Given the description of an element on the screen output the (x, y) to click on. 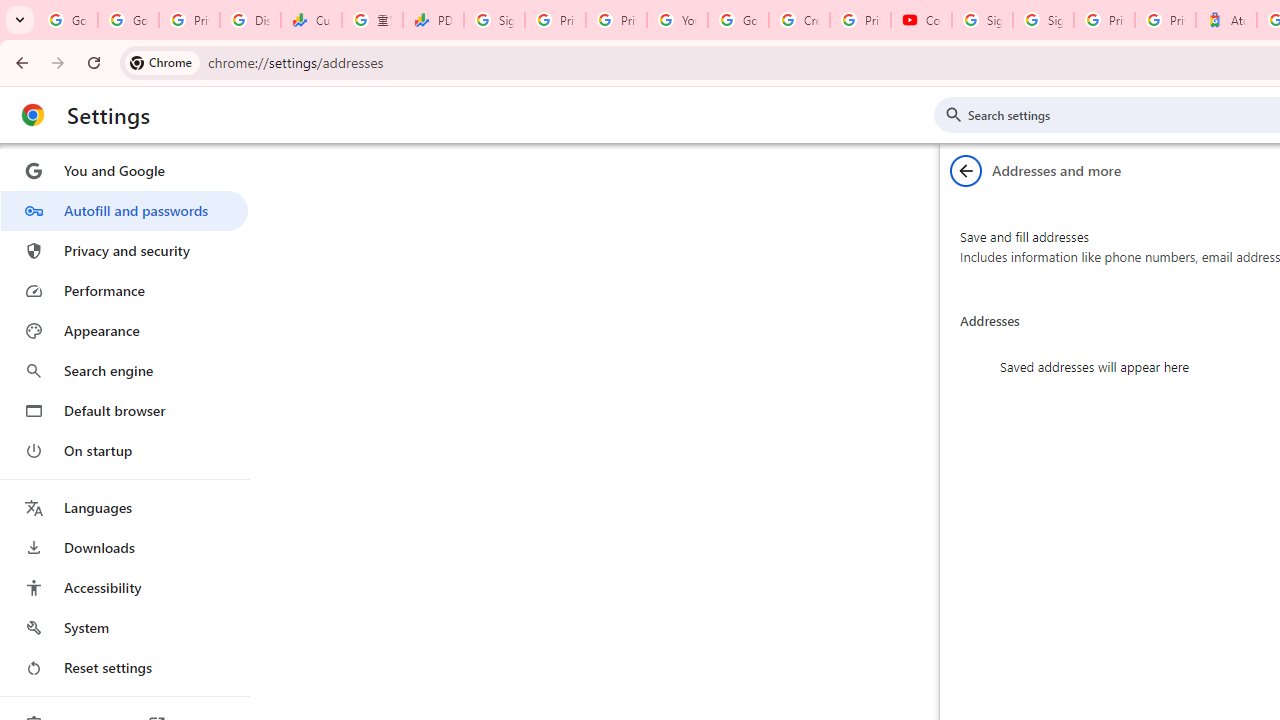
Sign in - Google Accounts (1042, 20)
Accessibility (124, 587)
Default browser (124, 410)
Downloads (124, 547)
Reset settings (124, 668)
Google Workspace Admin Community (67, 20)
Appearance (124, 331)
You and Google (124, 170)
Autofill and passwords (124, 210)
Atour Hotel - Google hotels (1225, 20)
